Given the description of an element on the screen output the (x, y) to click on. 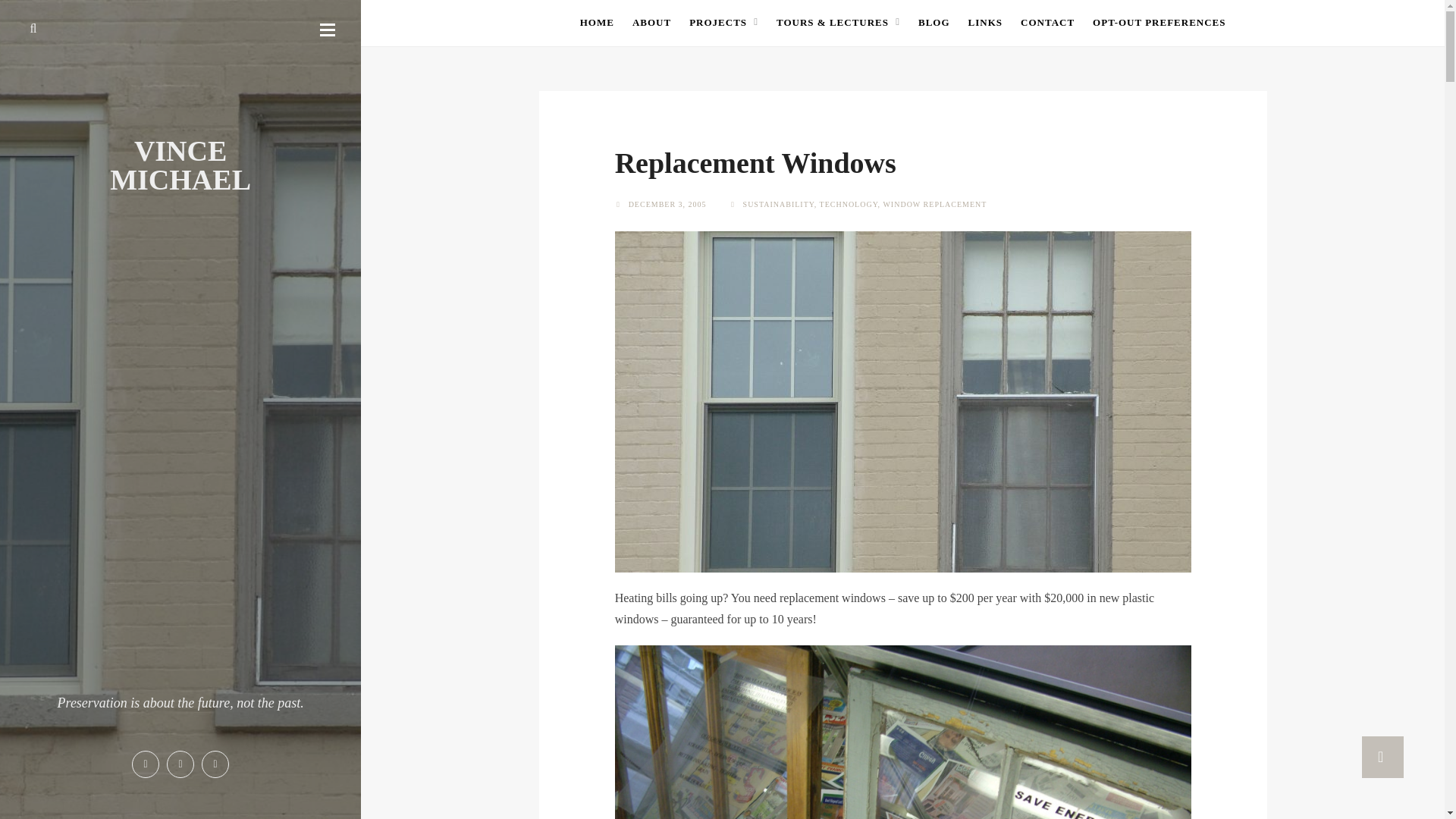
CONTACT (1047, 22)
LinkedIn (215, 764)
TECHNOLOGY (848, 203)
OPT-OUT PREFERENCES (1159, 22)
VINCE MICHAEL (180, 165)
PROJECTS (723, 22)
SUSTAINABILITY (777, 203)
Replacement Windows (755, 163)
Toggle Sidebar Menu (327, 29)
WINDOW REPLACEMENT (934, 203)
Facebook (145, 764)
Twitter (180, 764)
